Given the description of an element on the screen output the (x, y) to click on. 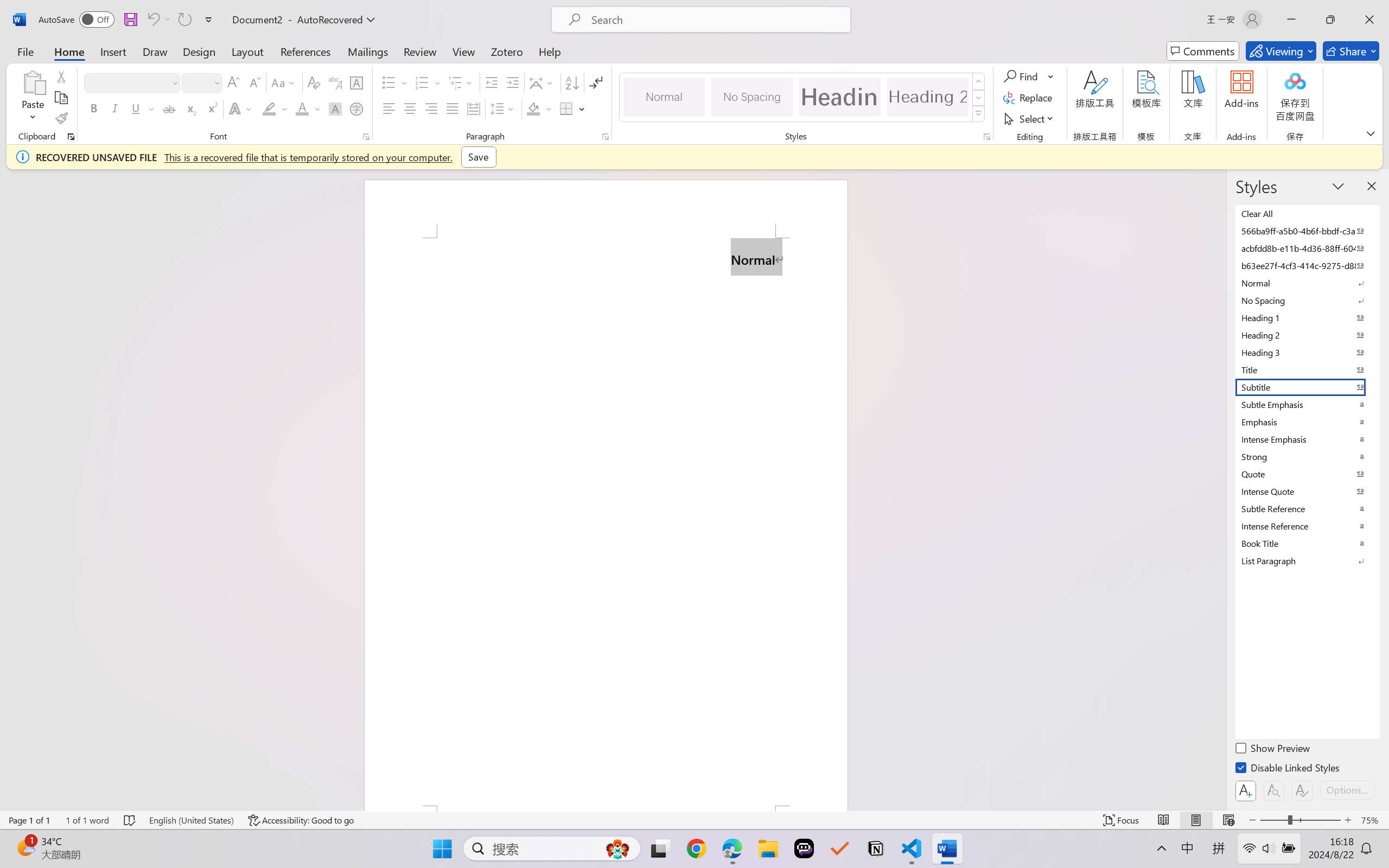
AutomationID: QuickStylesGallery (802, 97)
Row Down (978, 97)
Zoom 75% (1372, 819)
Text Highlight Color (274, 108)
Text Highlight Color Yellow (269, 108)
Styles... (986, 136)
Ribbon Display Options (1370, 132)
acbfdd8b-e11b-4d36-88ff-6049b138f862 (1306, 247)
Clear All (1306, 213)
Disable Linked Styles (1287, 769)
Strong (1306, 456)
